Given the description of an element on the screen output the (x, y) to click on. 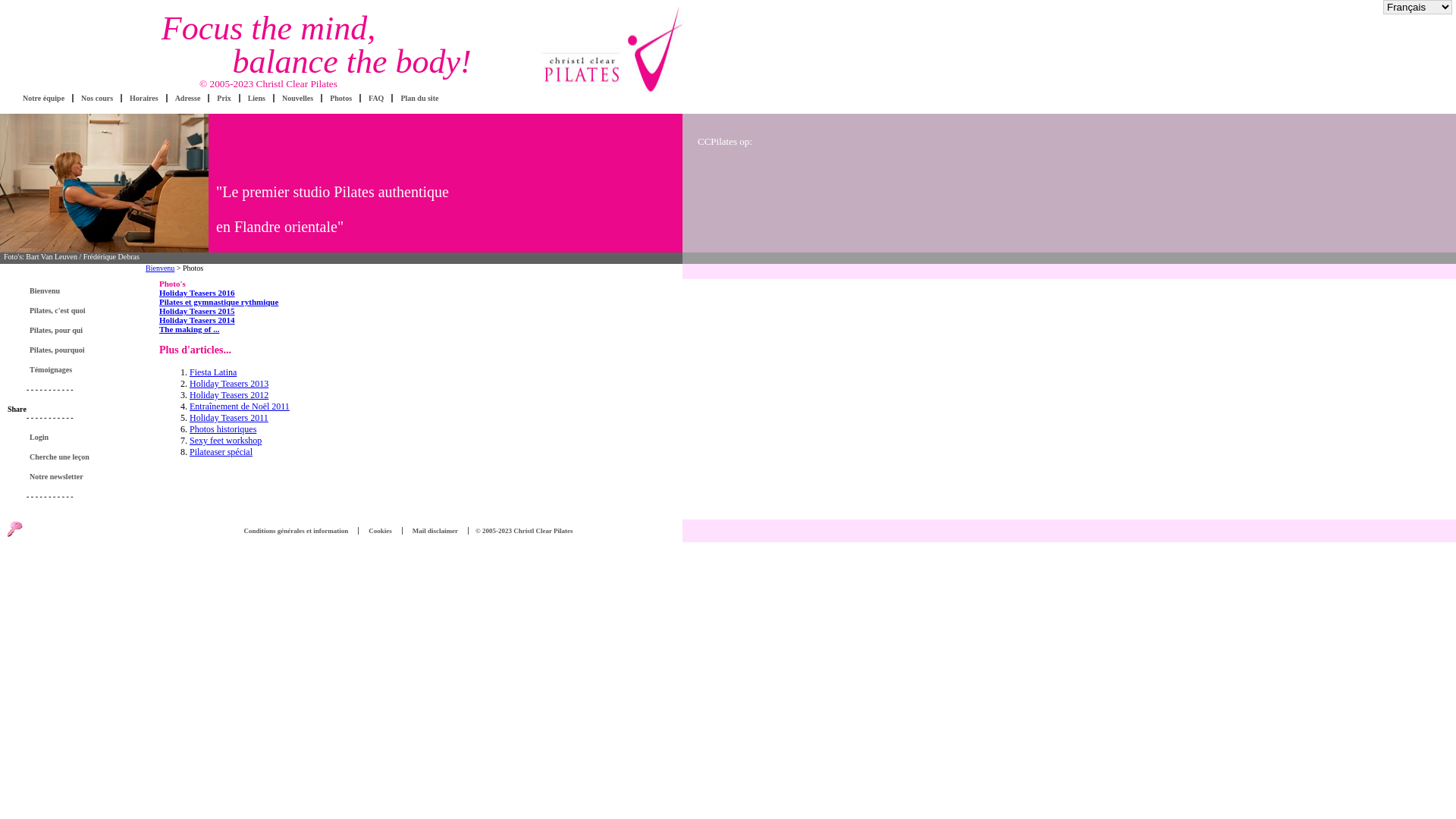
Login Element type: text (38, 436)
Photos Element type: text (340, 98)
Fiesta Latina Element type: text (212, 372)
Holiday Teasers 2011 Element type: text (228, 417)
Cookies Element type: text (380, 530)
Adresse Element type: text (187, 98)
Holiday Teasers 2016 Element type: text (197, 292)
Holiday Teasers 2012 Element type: text (228, 394)
FAQ Element type: text (375, 98)
Mail disclaimer Element type: text (435, 530)
Horaires Element type: text (143, 98)
Bienvenu Element type: text (44, 290)
Pilates, pourquoi Element type: text (56, 349)
Liens Element type: text (256, 98)
Photos historiques Element type: text (222, 428)
Nouvelles Element type: text (297, 98)
The making of ... Element type: text (189, 328)
Pilates et gymnastique rythmique Element type: text (218, 301)
Notre newsletter Element type: text (56, 476)
Pilates, pour qui Element type: text (55, 330)
Holiday Teasers 2014 Element type: text (197, 319)
Holiday Teasers 2013 Element type: text (228, 383)
Bienvenu Element type: text (159, 267)
Plan du site Element type: text (419, 98)
Nos cours Element type: text (96, 98)
Holiday Teasers 2015 Element type: text (197, 310)
Pilates, c'est quoi Element type: text (57, 310)
Sexy feet workshop Element type: text (225, 440)
Prix Element type: text (223, 98)
Share Element type: text (16, 408)
